Given the description of an element on the screen output the (x, y) to click on. 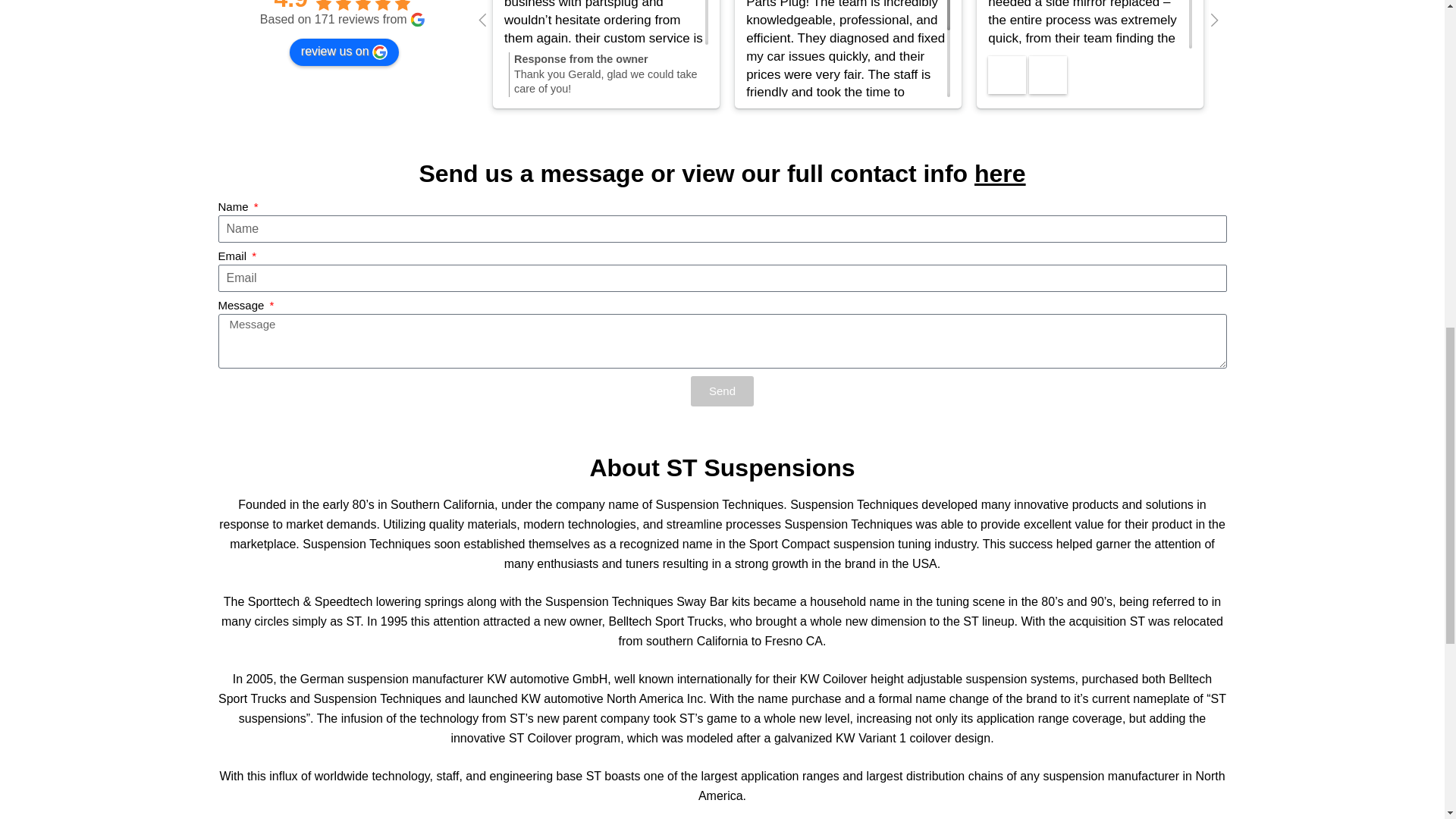
Send us a message or view our full contact info here (722, 173)
Send (1304, 82)
